Given the description of an element on the screen output the (x, y) to click on. 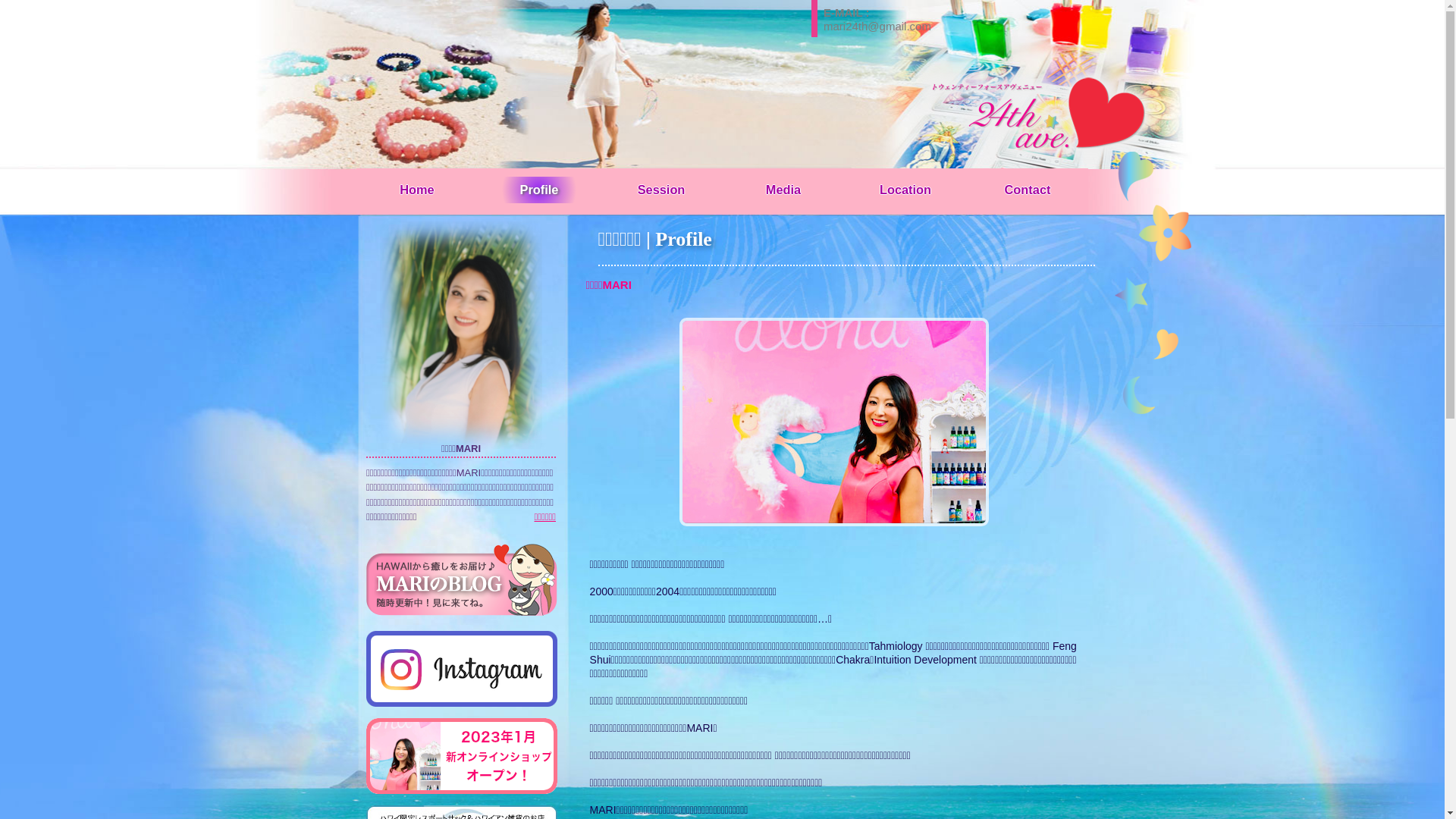
mari24th@gmail.com Element type: text (877, 25)
  Element type: text (461, 668)
Media Element type: text (783, 189)
  Element type: text (461, 755)
Profile Element type: text (538, 189)
Session Element type: text (660, 189)
24th Avenue Element type: text (1092, 119)
Location Element type: text (905, 189)
Contact Element type: text (1027, 189)
Home Element type: text (416, 189)
